Given the description of an element on the screen output the (x, y) to click on. 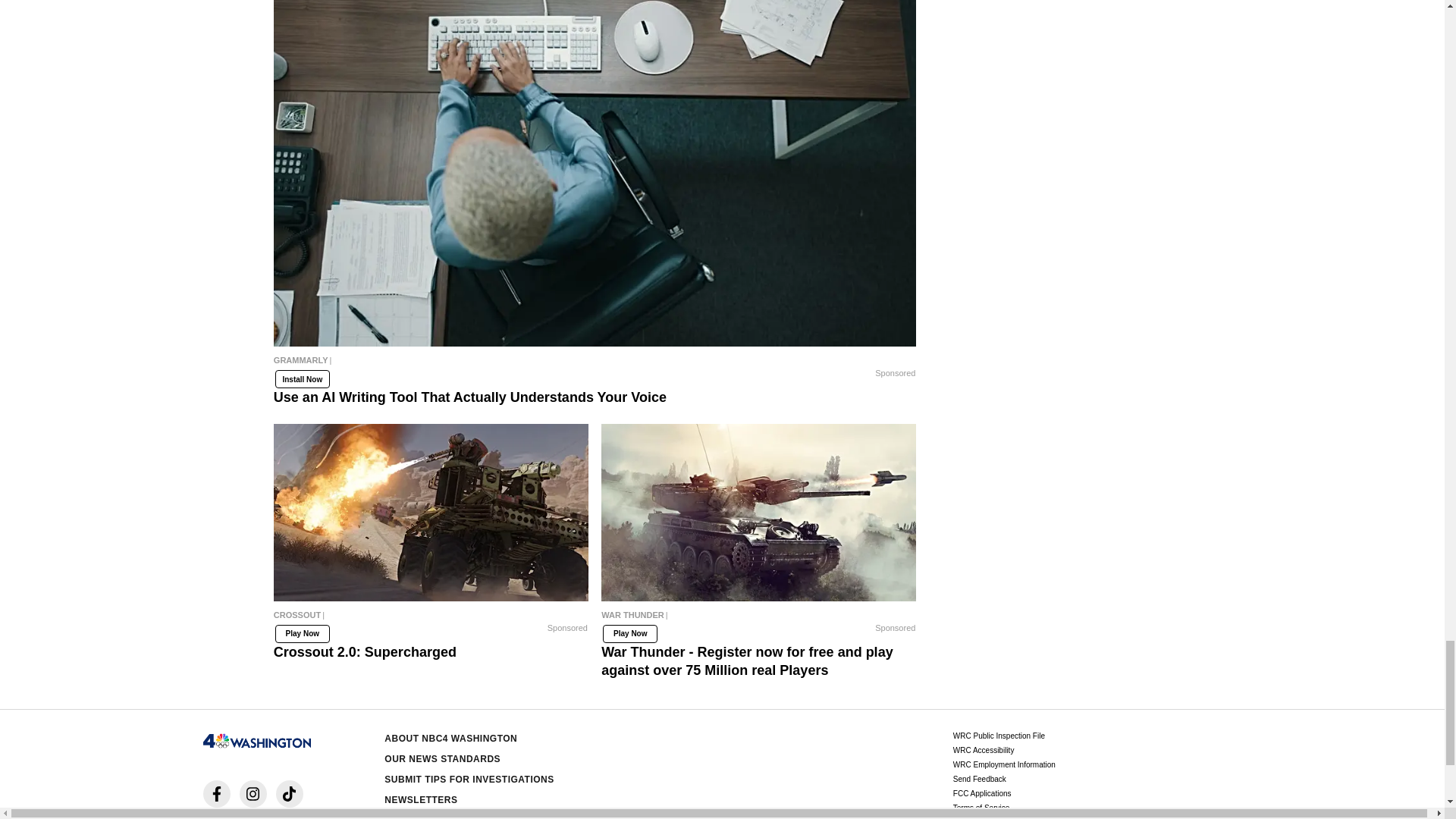
Use an AI Writing Tool That Actually Understands Your Voice (595, 363)
Crossout 2.0: Supercharged (430, 512)
Crossout 2.0: Supercharged (430, 618)
